Given the description of an element on the screen output the (x, y) to click on. 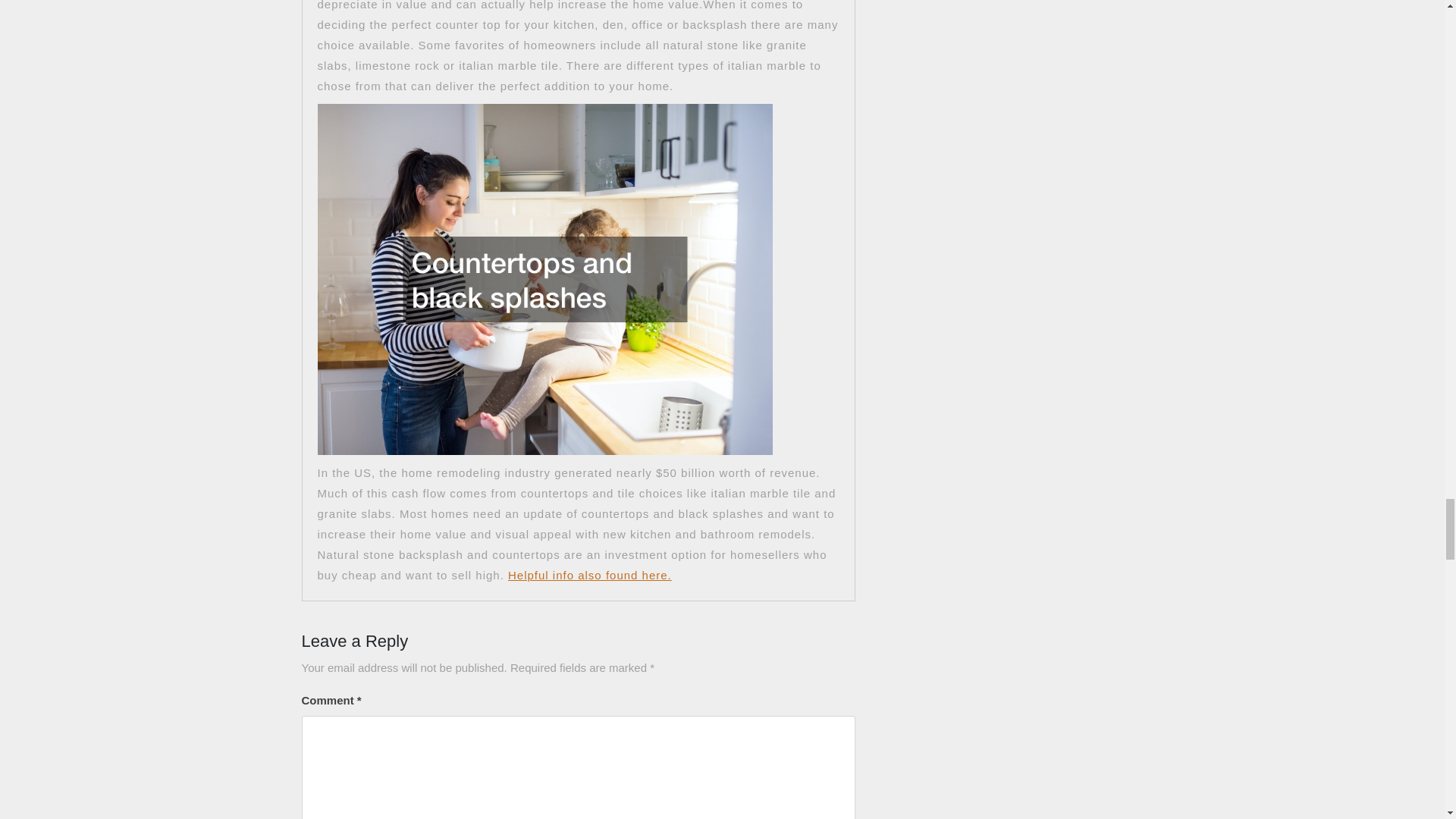
Helpful info also found here. (589, 574)
For more about Buy limestone (589, 574)
